Given the description of an element on the screen output the (x, y) to click on. 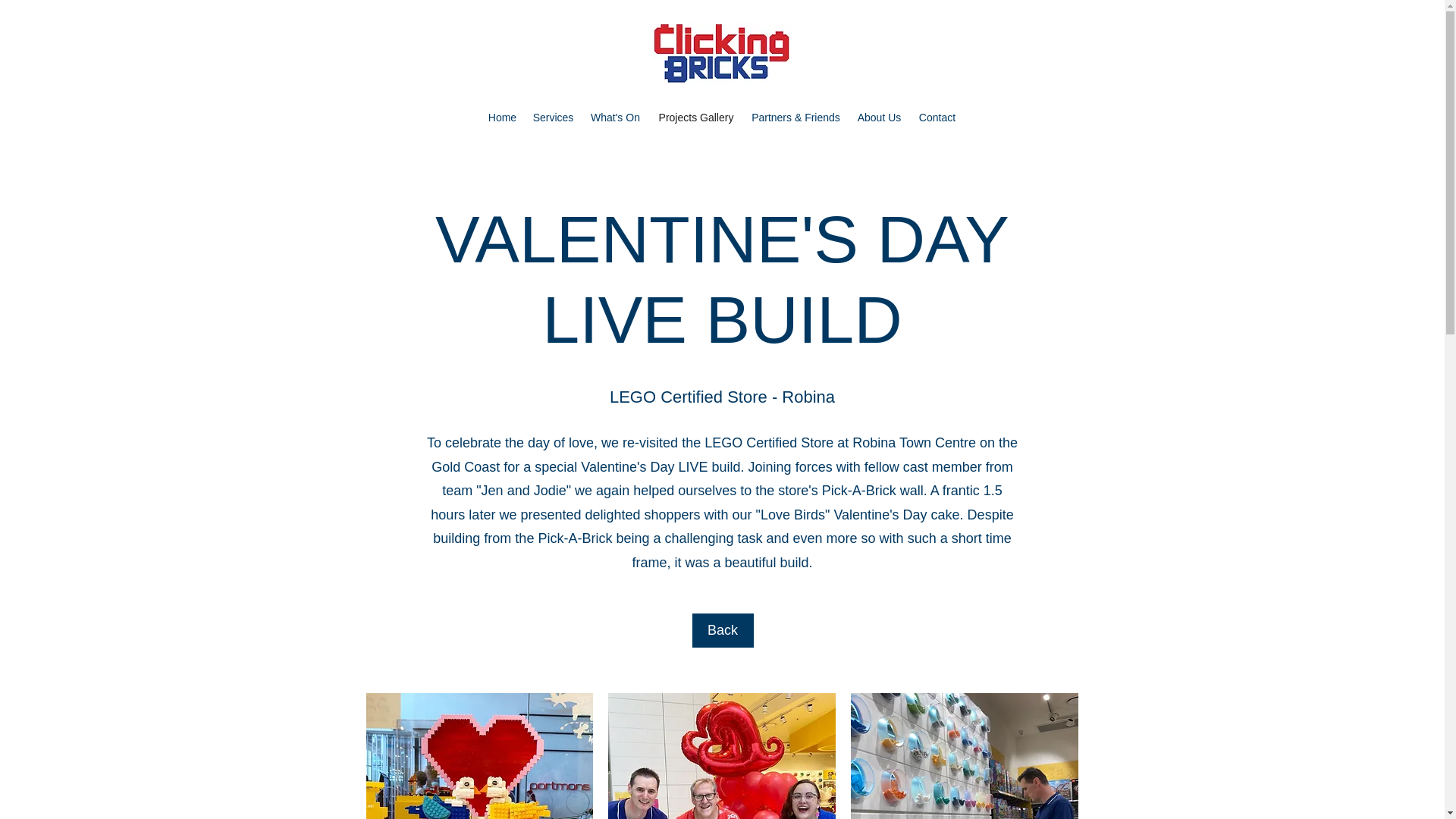
What's On (614, 117)
Home (502, 117)
Back (721, 630)
Contact (936, 117)
Projects Gallery (695, 117)
About Us (879, 117)
Services (552, 117)
